Given the description of an element on the screen output the (x, y) to click on. 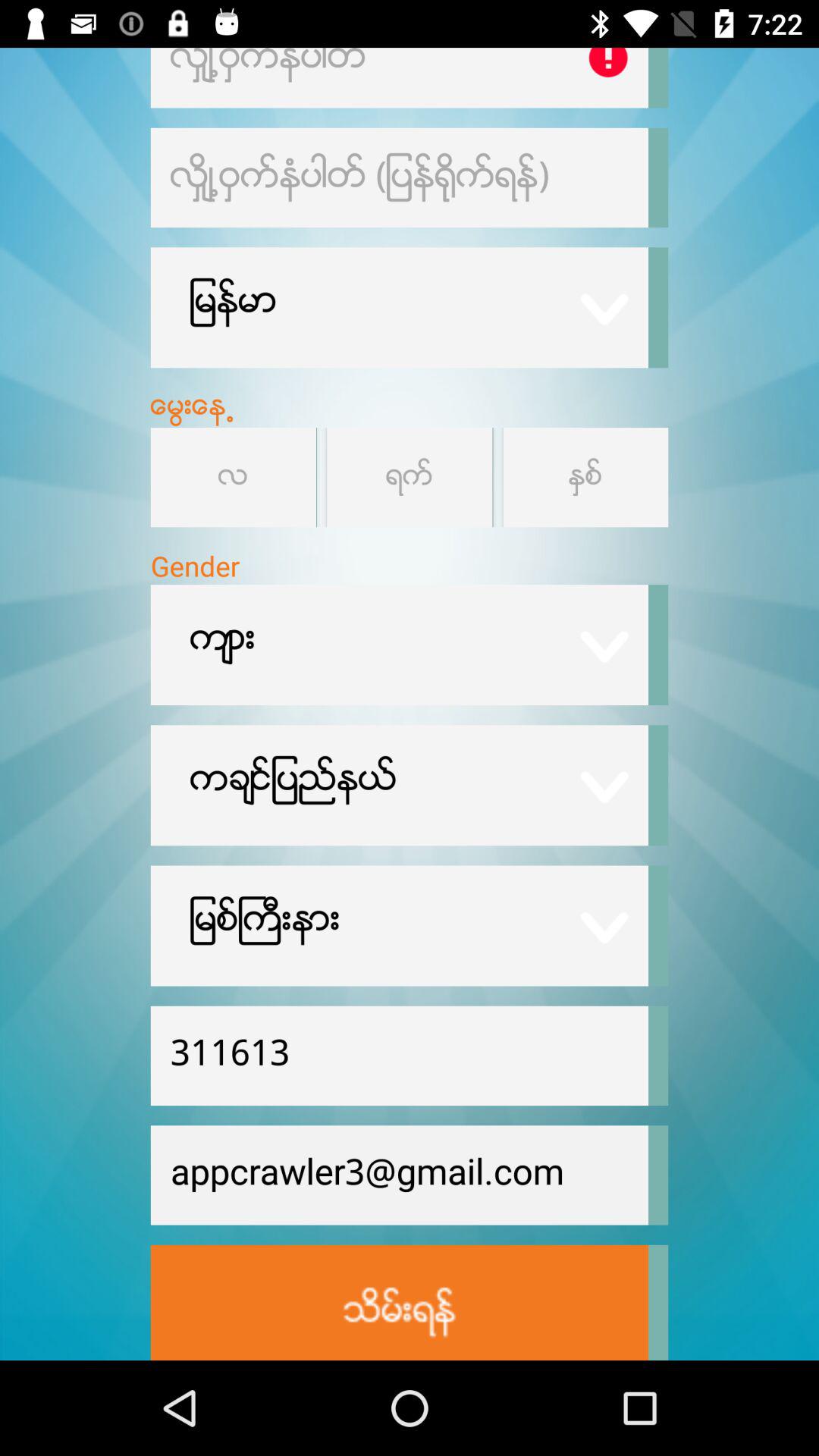
enter first name (399, 77)
